Given the description of an element on the screen output the (x, y) to click on. 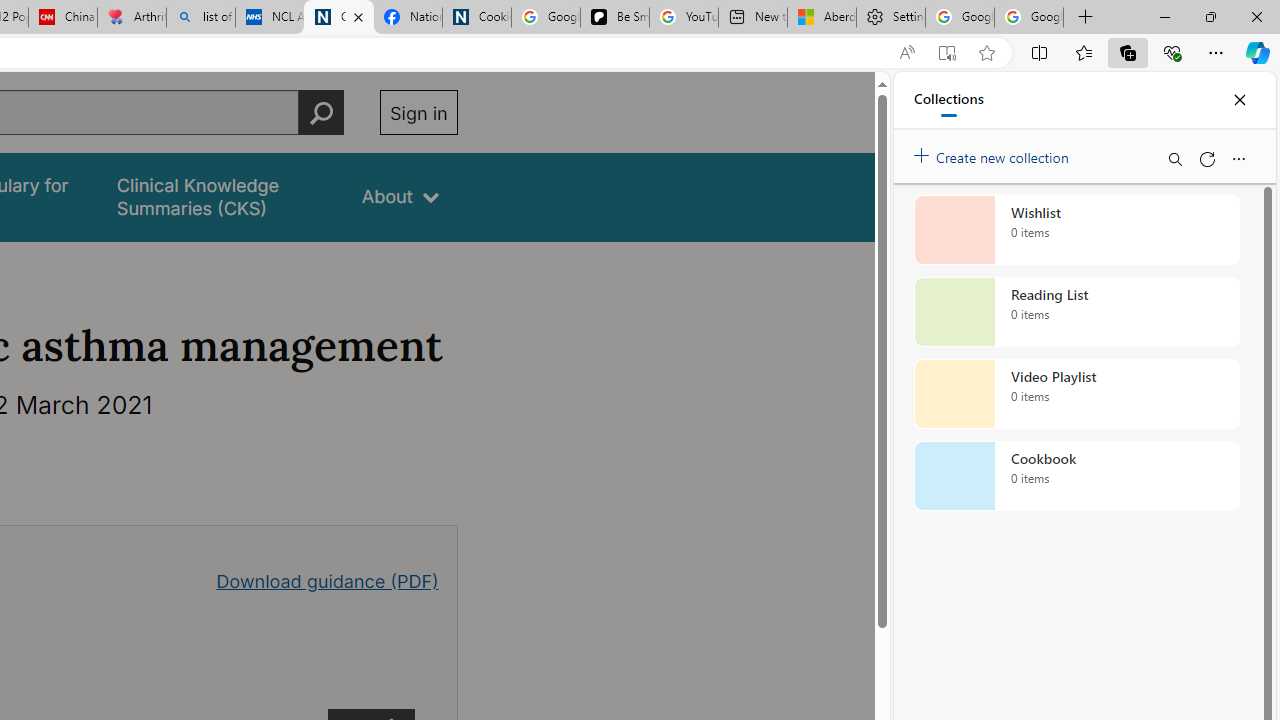
Create new collection (994, 153)
Cookies (476, 17)
Download guidance (PDF) (327, 580)
Reading List collection, 0 items (1076, 312)
Wishlist collection, 0 items (1076, 229)
